Given the description of an element on the screen output the (x, y) to click on. 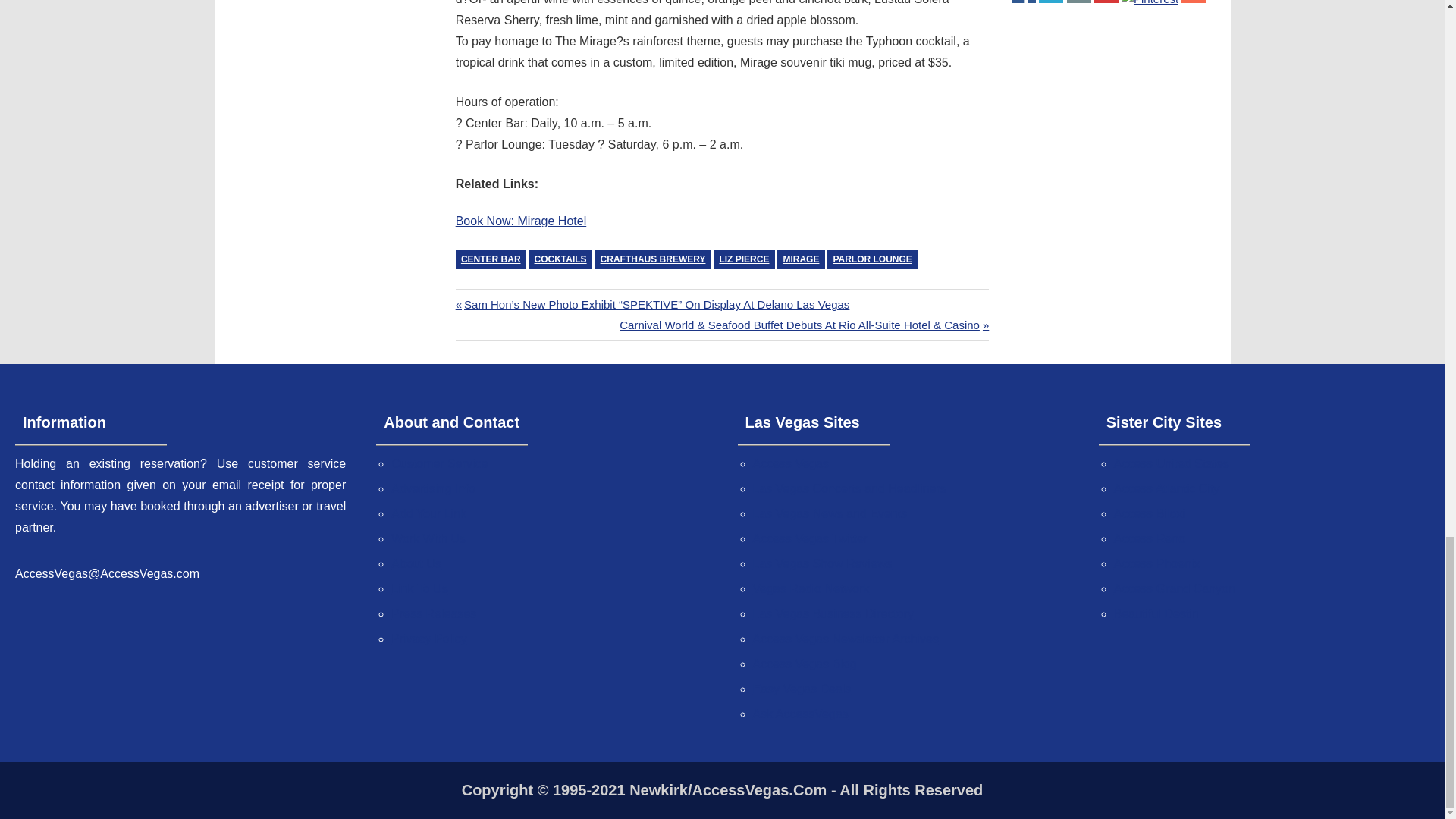
Click to book Mirage Las Vegas Now! (520, 220)
